Given the description of an element on the screen output the (x, y) to click on. 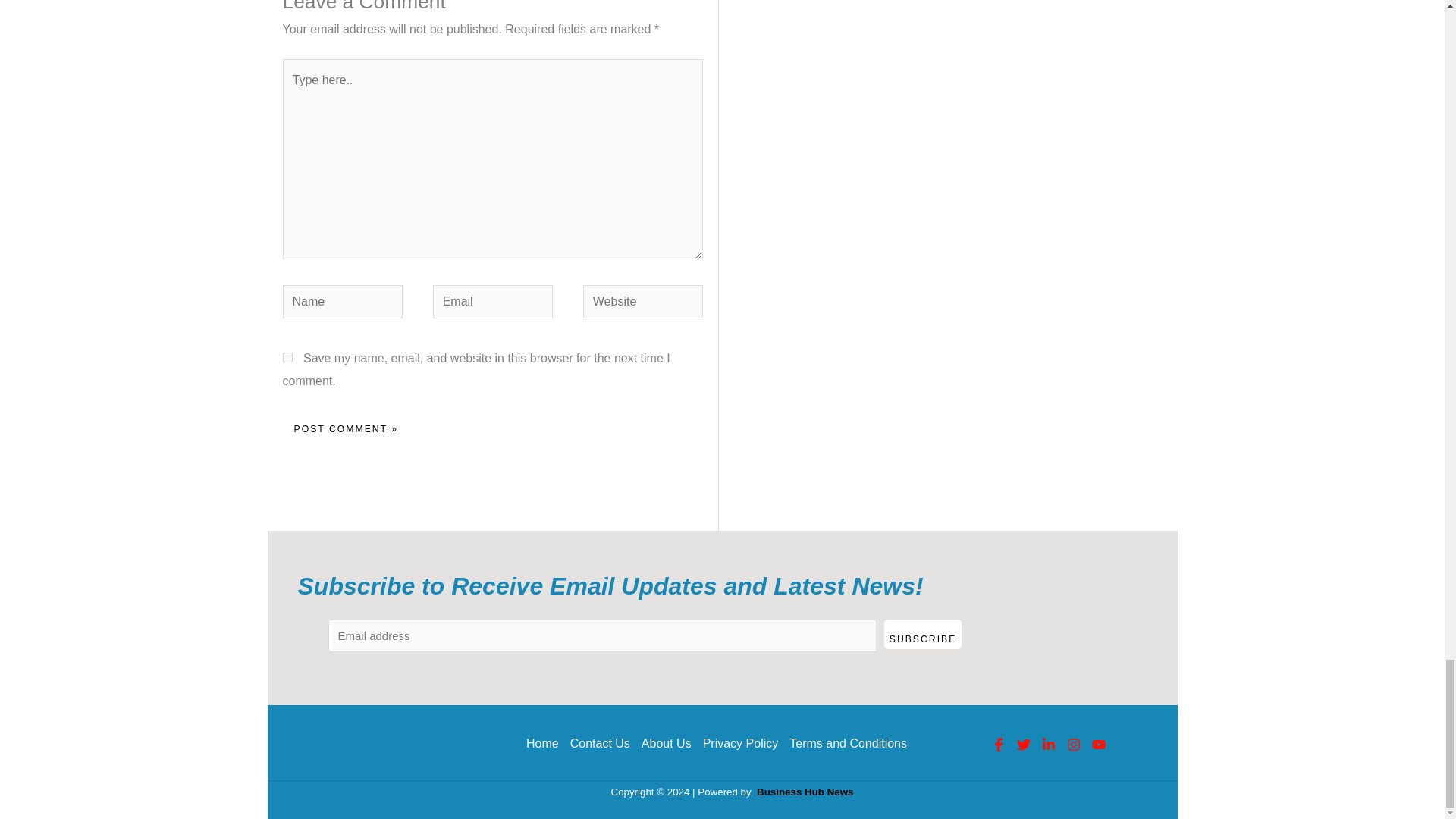
yes (287, 357)
